Given the description of an element on the screen output the (x, y) to click on. 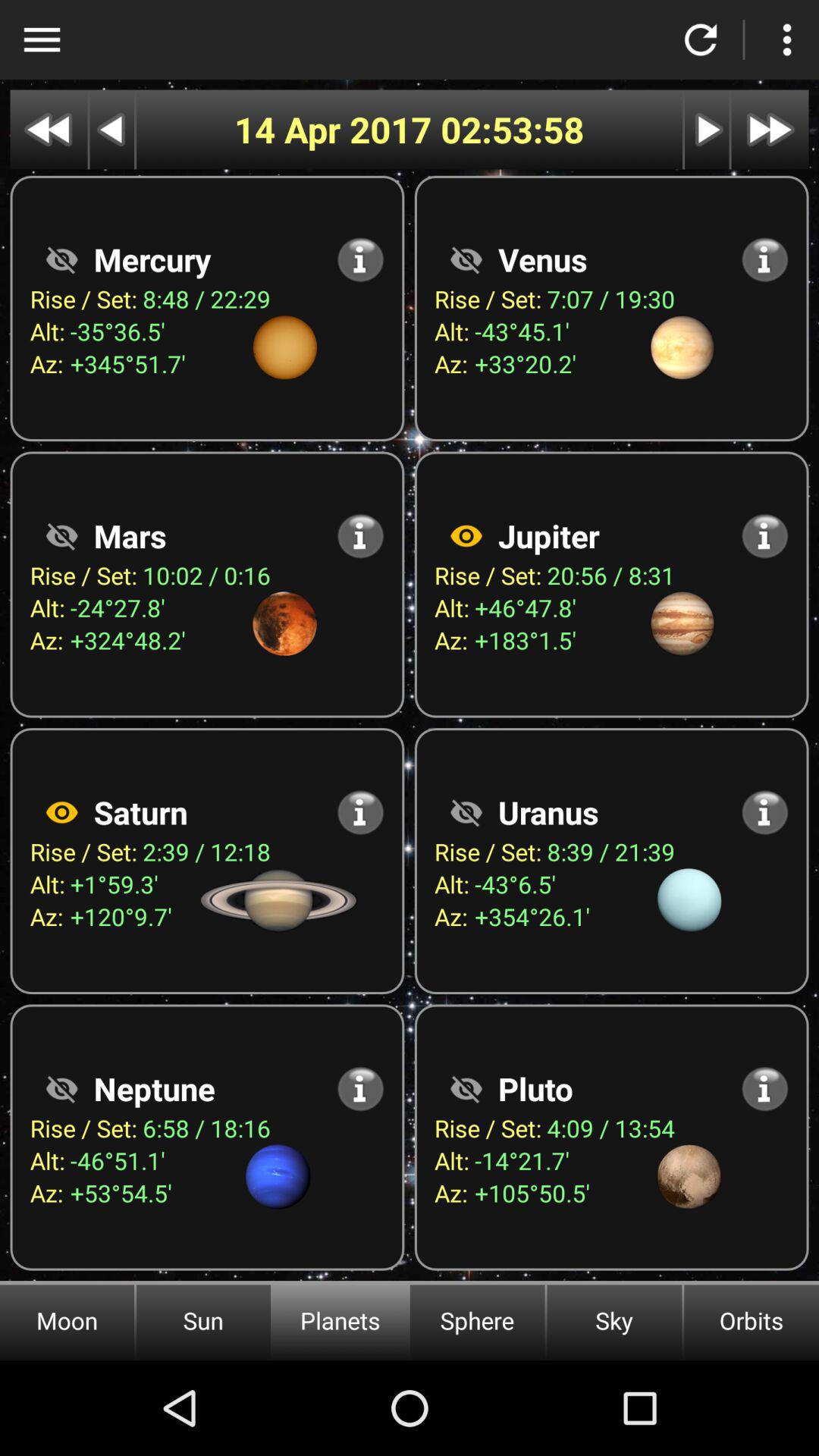
go back (48, 129)
